Given the description of an element on the screen output the (x, y) to click on. 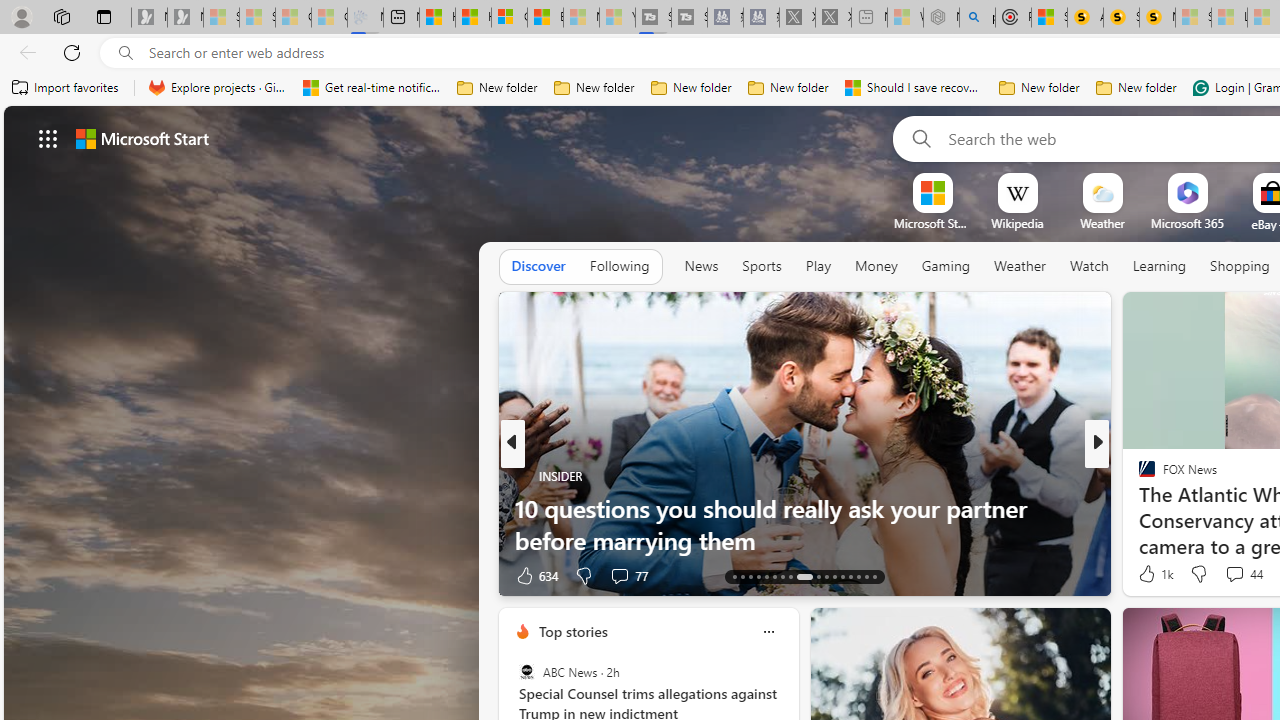
AutomationID: tab-15 (750, 576)
186 Like (1151, 574)
